Given the description of an element on the screen output the (x, y) to click on. 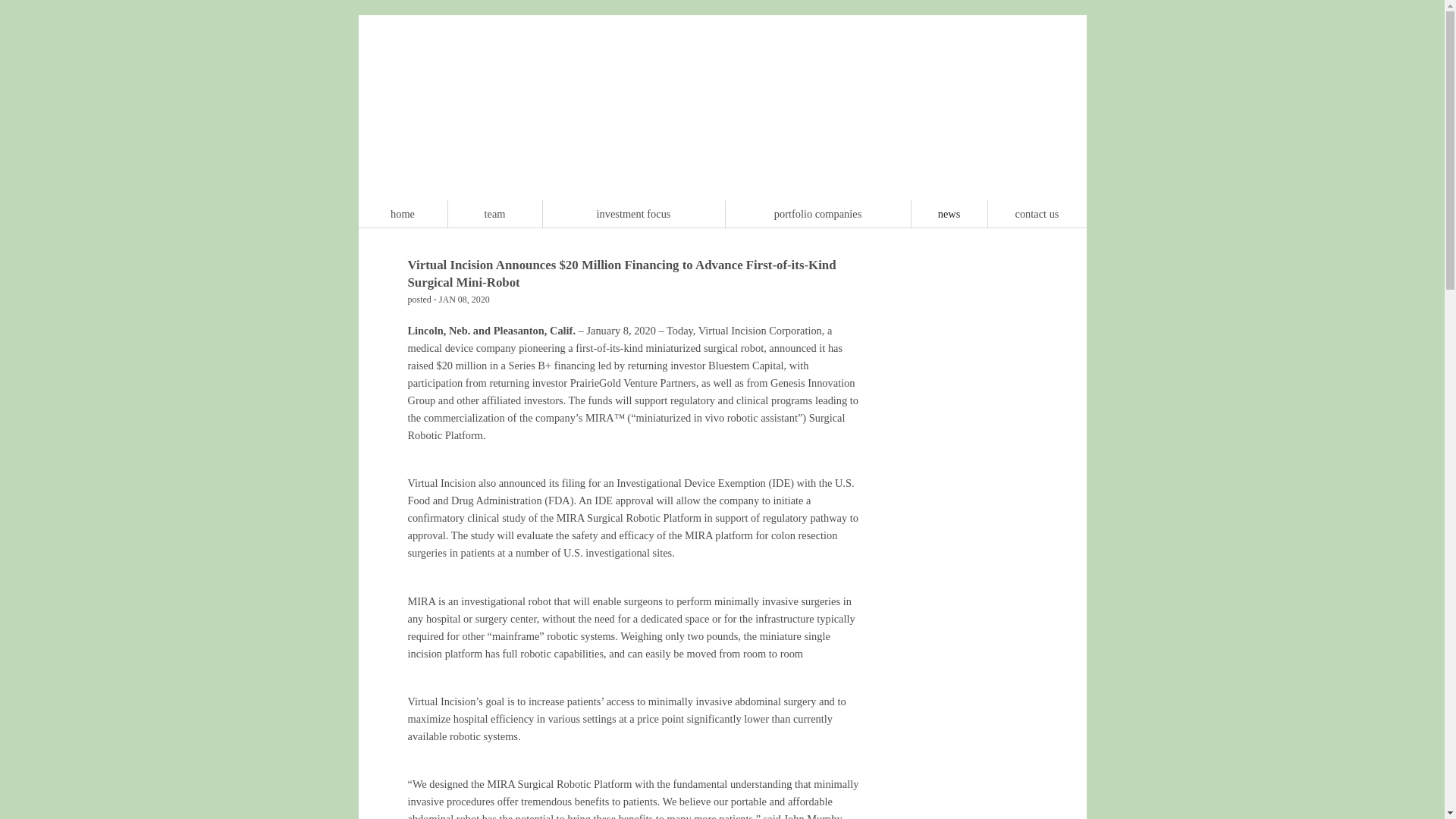
investment focus (632, 213)
team (493, 213)
contact us (1036, 213)
contact us (1036, 213)
home (402, 213)
investment focus (632, 213)
news (948, 213)
portfolio companies (818, 213)
news (948, 213)
team (493, 213)
